Given the description of an element on the screen output the (x, y) to click on. 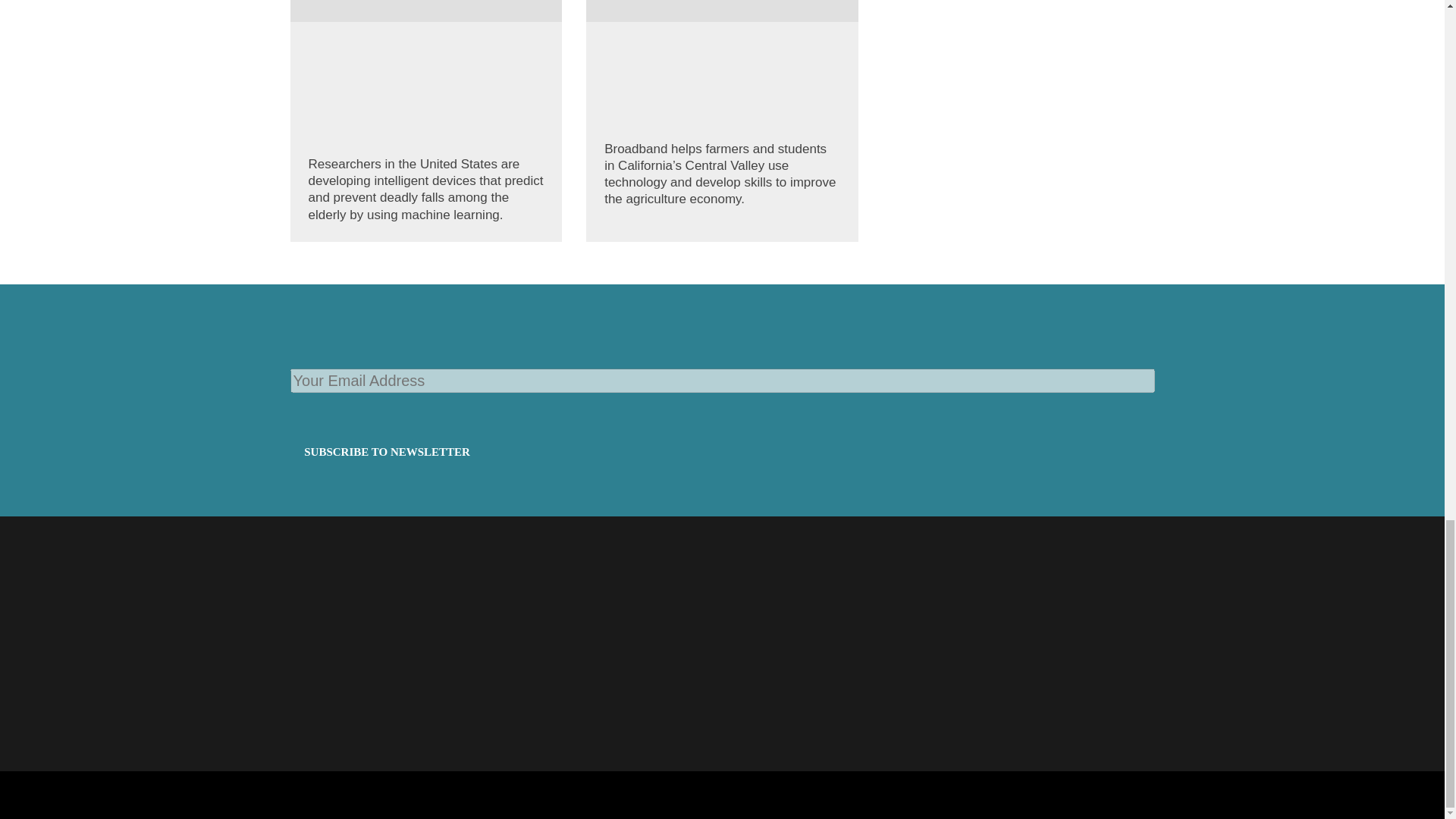
Subscribe to newsletter (386, 452)
